Given the description of an element on the screen output the (x, y) to click on. 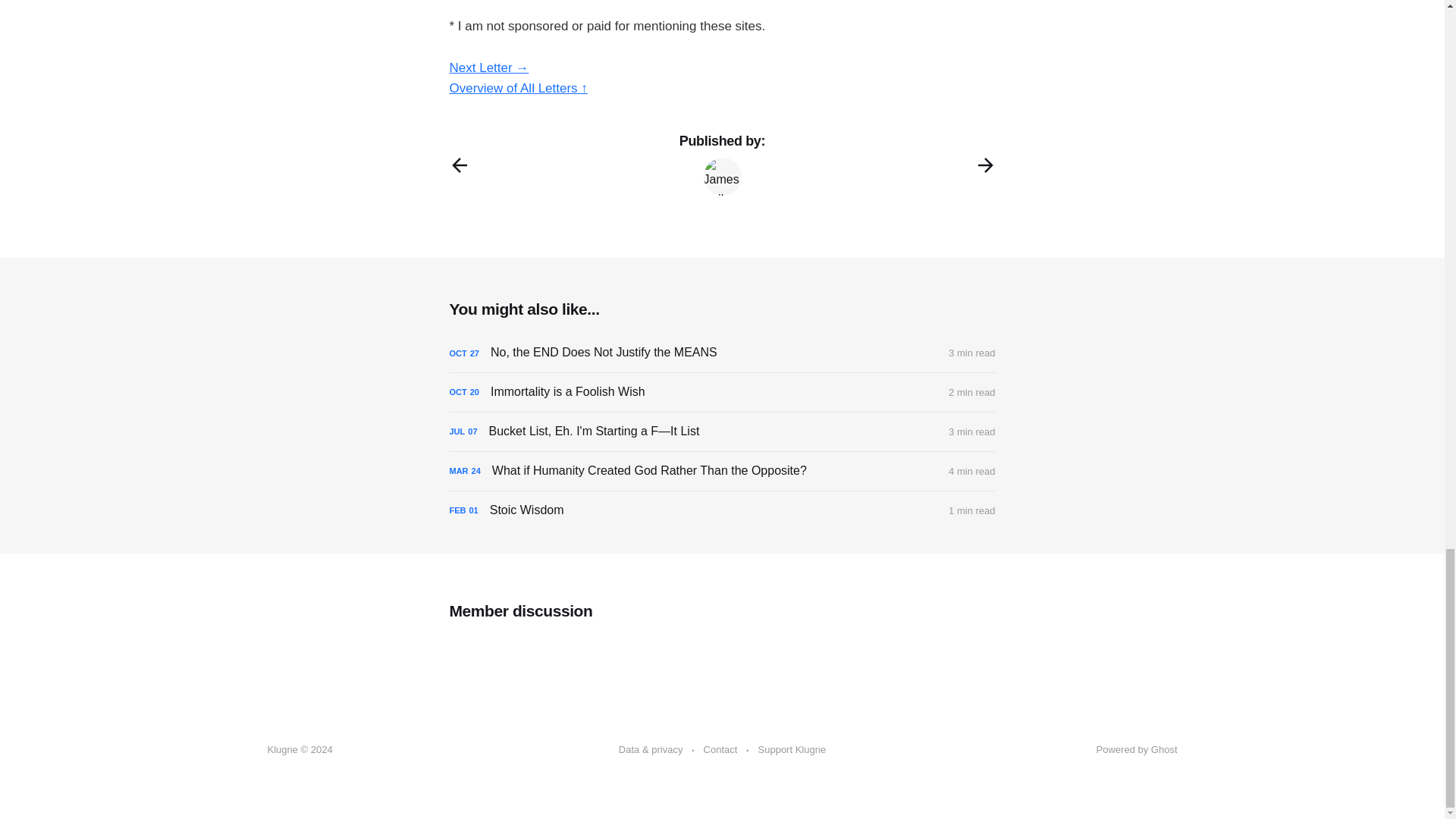
Support Klugne (792, 750)
Contact (720, 750)
Powered by Ghost (1136, 749)
